Given the description of an element on the screen output the (x, y) to click on. 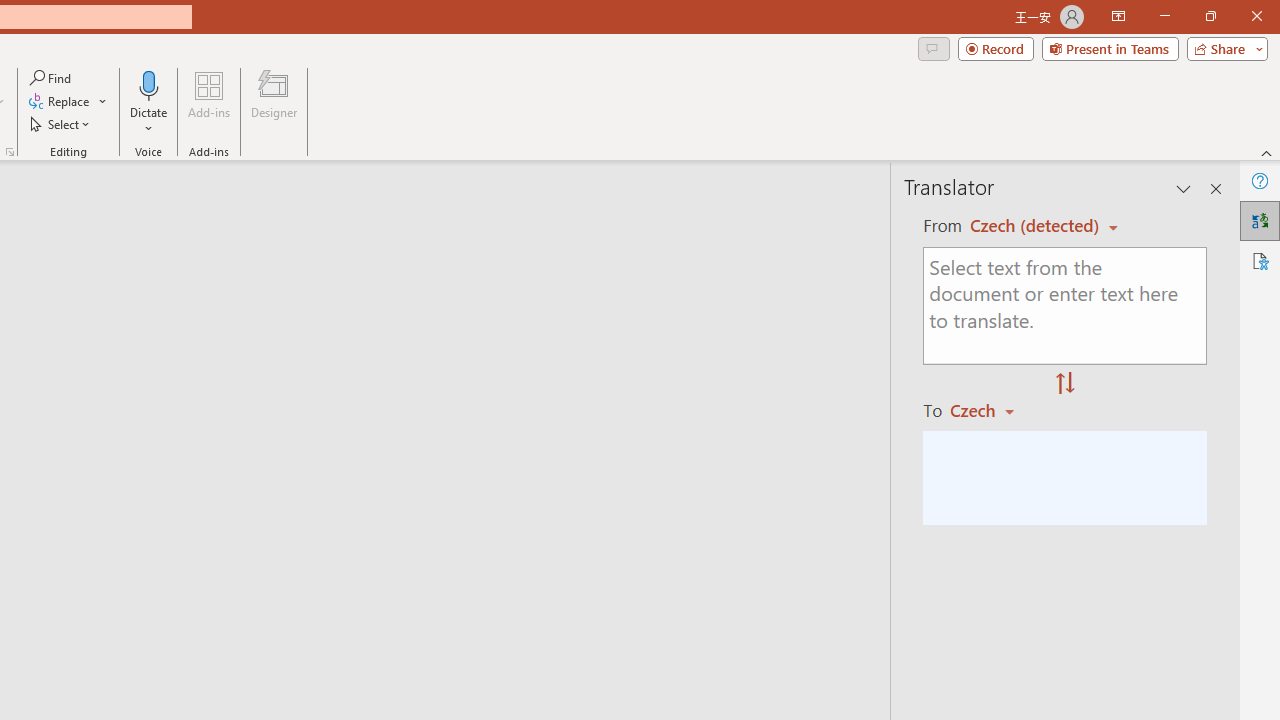
Czech (detected) (1037, 225)
